Given the description of an element on the screen output the (x, y) to click on. 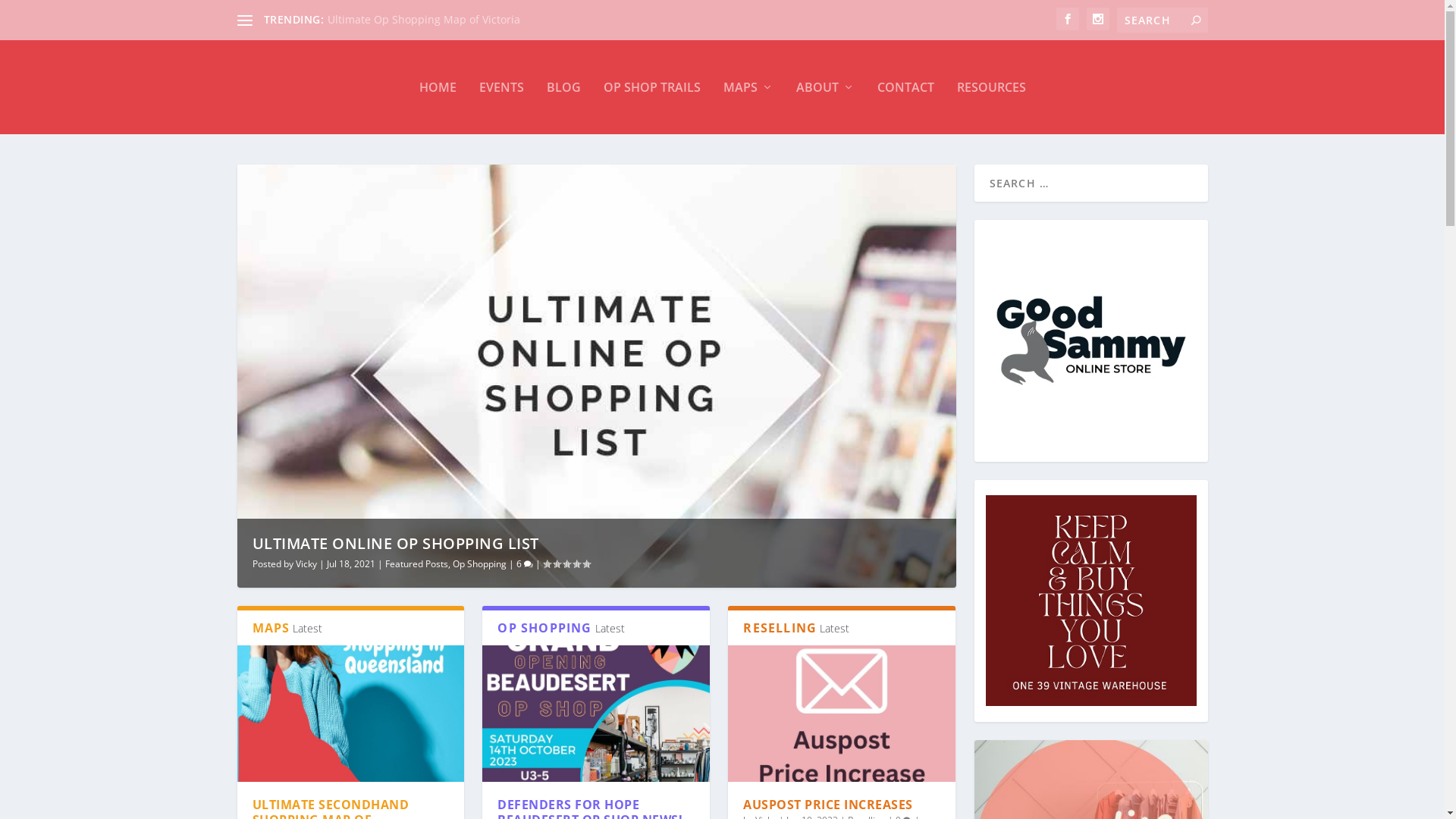
Ultimate Online Op Shopping list Element type: text (411, 19)
Defenders For Hope Beaudesert Op Shop News! Element type: hover (595, 713)
Op Shopping Element type: text (478, 563)
ULTIMATE ONLINE OP SHOPPING LIST Element type: text (394, 543)
comment count Element type: hover (527, 564)
Auspost Price Increases Element type: hover (841, 713)
6 Element type: text (523, 563)
BLOG Element type: text (563, 87)
Rating: 0.00 Element type: hover (565, 563)
RESOURCES Element type: text (991, 87)
ABOUT Element type: text (825, 87)
EVENTS Element type: text (501, 87)
Search for: Element type: hover (1161, 19)
Featured Posts Element type: text (416, 563)
ULTIMATE SECONDHAND SHOPPING MAP OF QUEENSLAND Element type: hover (350, 713)
MAPS Element type: text (748, 87)
HOME Element type: text (436, 87)
OP SHOP TRAILS Element type: text (651, 87)
Vicky Element type: text (305, 563)
AUSPOST PRICE INCREASES Element type: text (828, 804)
CONTACT Element type: text (904, 87)
